Given the description of an element on the screen output the (x, y) to click on. 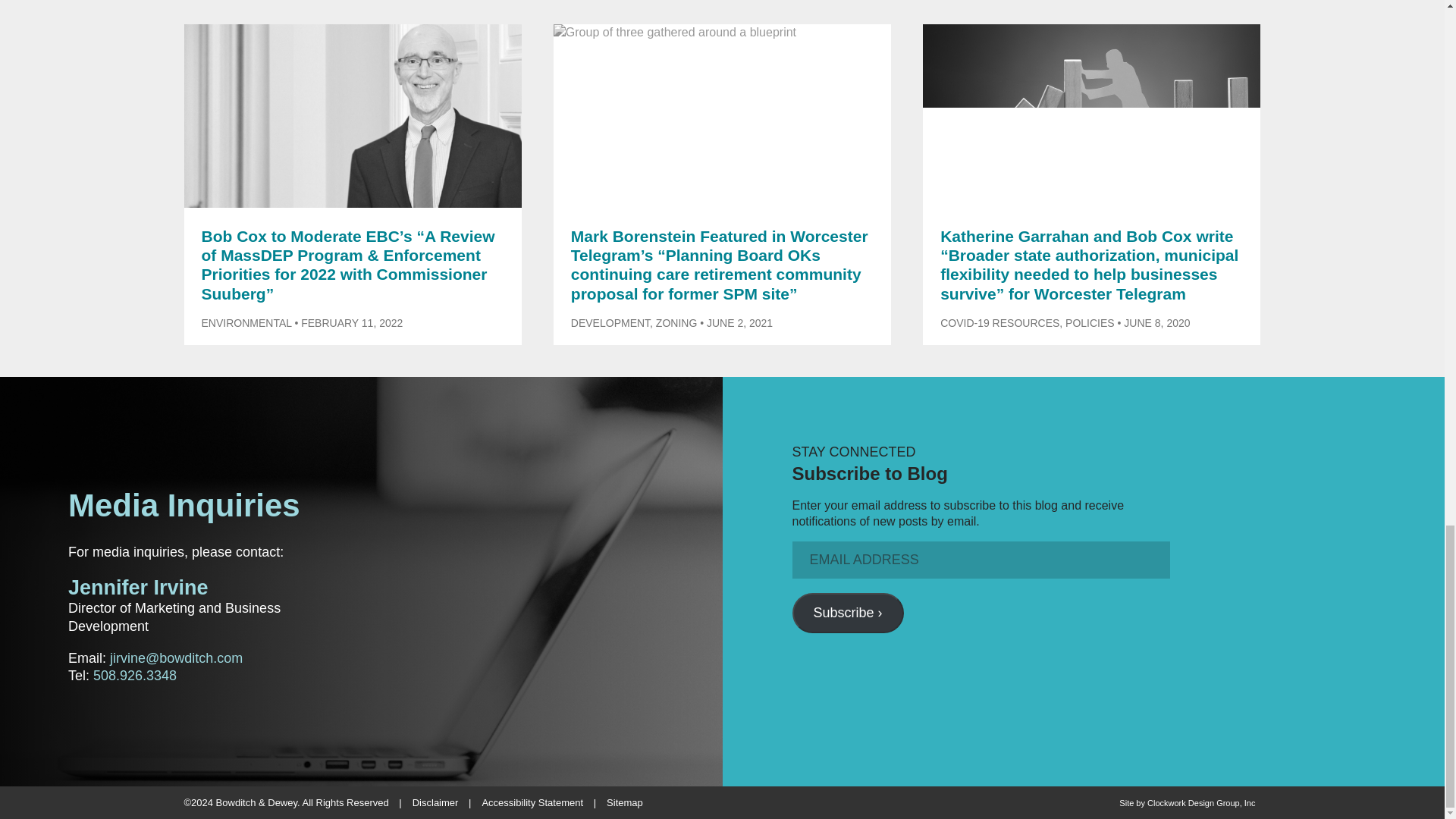
ZONING (676, 322)
COVID-19 RESOURCES (999, 322)
ENVIRONMENTAL (247, 322)
POLICIES (1090, 322)
DEVELOPMENT (609, 322)
